Given the description of an element on the screen output the (x, y) to click on. 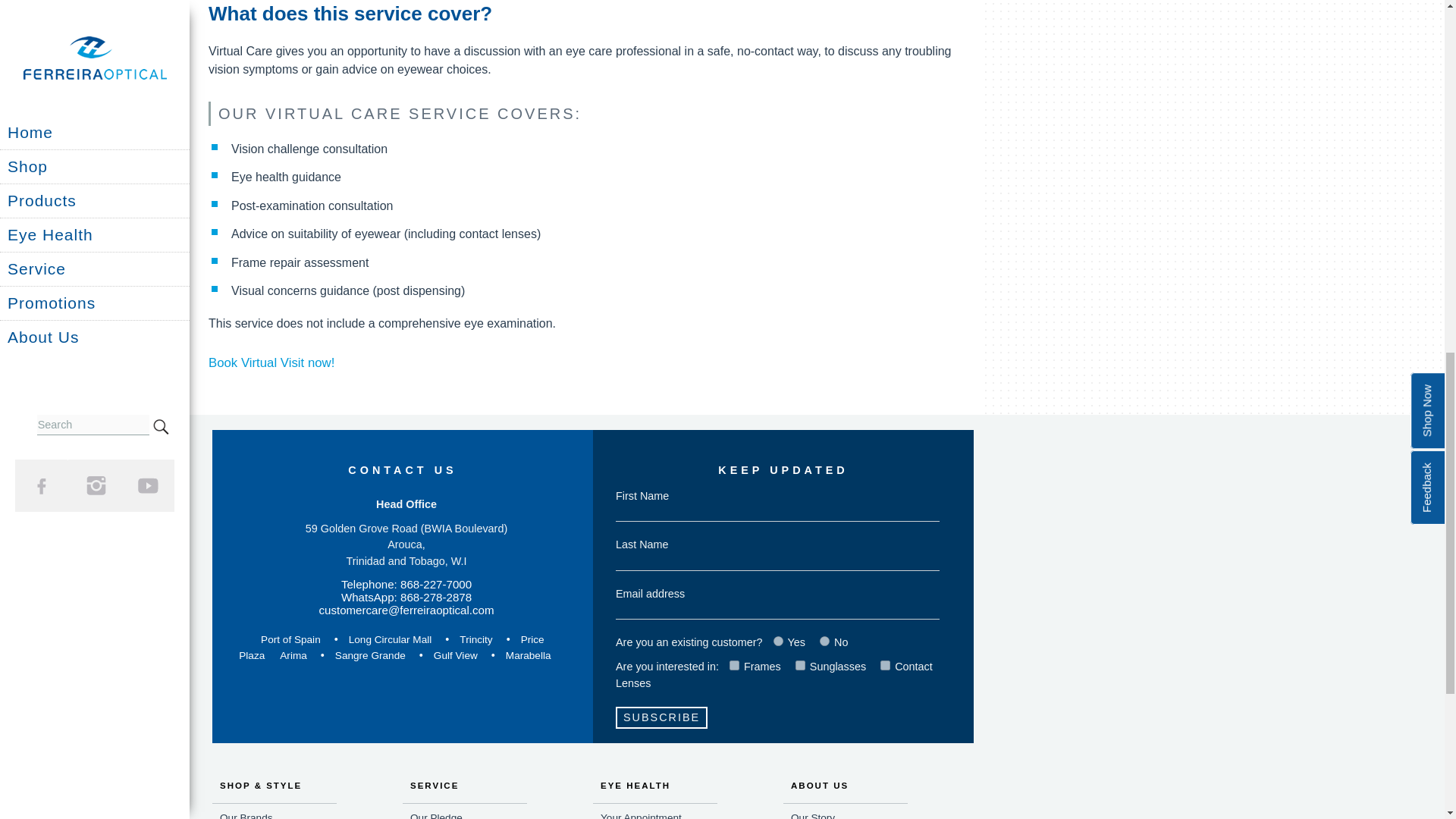
b10fca9613 (734, 665)
No (824, 641)
Yes (778, 641)
Mobile users can click this link to call our head office (405, 584)
Subscribe (661, 717)
f428a8e490 (884, 665)
c055c72c33 (799, 665)
